Given the description of an element on the screen output the (x, y) to click on. 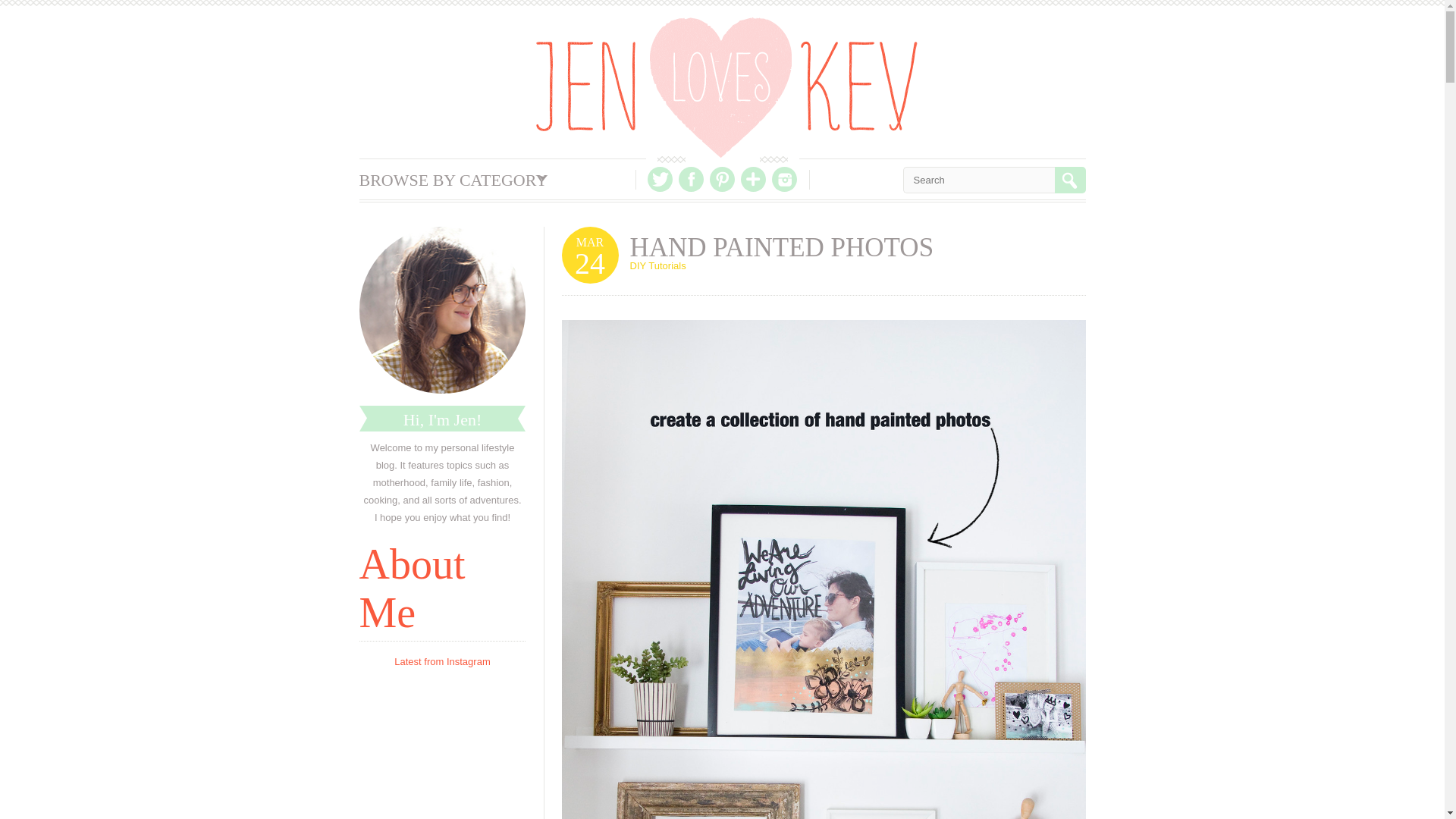
Pinterest (722, 179)
Permalink to Hand Painted Photos (780, 247)
HAND PAINTED PHOTOS (780, 247)
search (1069, 180)
search (1069, 180)
Instagram (783, 179)
BROWSE BY CATEGORY (453, 179)
Bloglovin (753, 179)
Twitter (659, 179)
Facebook (690, 179)
Jen Loves Kev (726, 87)
DIY Tutorials (656, 265)
Jen Loves Kev (726, 87)
